Given the description of an element on the screen output the (x, y) to click on. 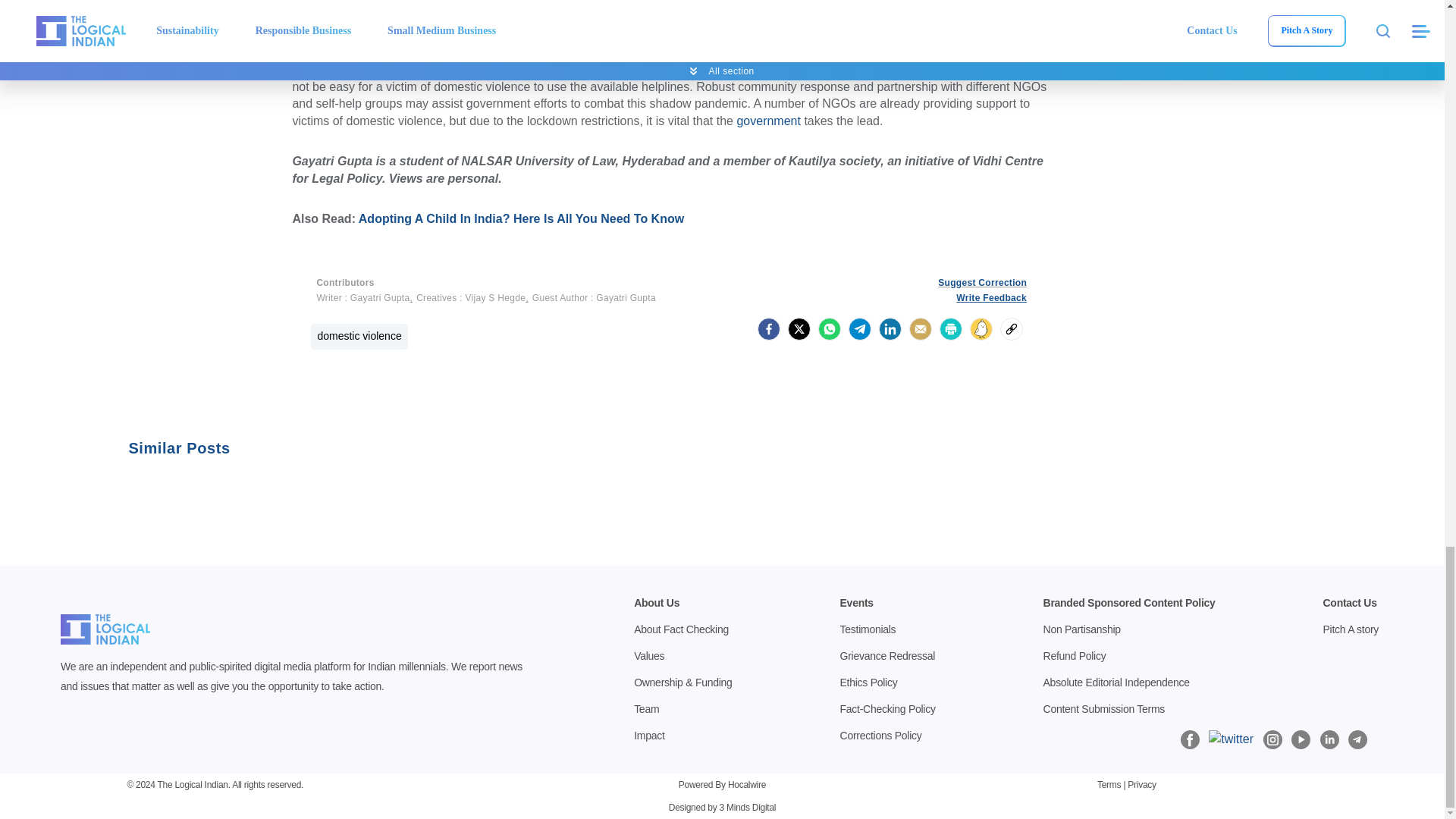
Share by Email (919, 328)
LinkedIn (890, 328)
